Given the description of an element on the screen output the (x, y) to click on. 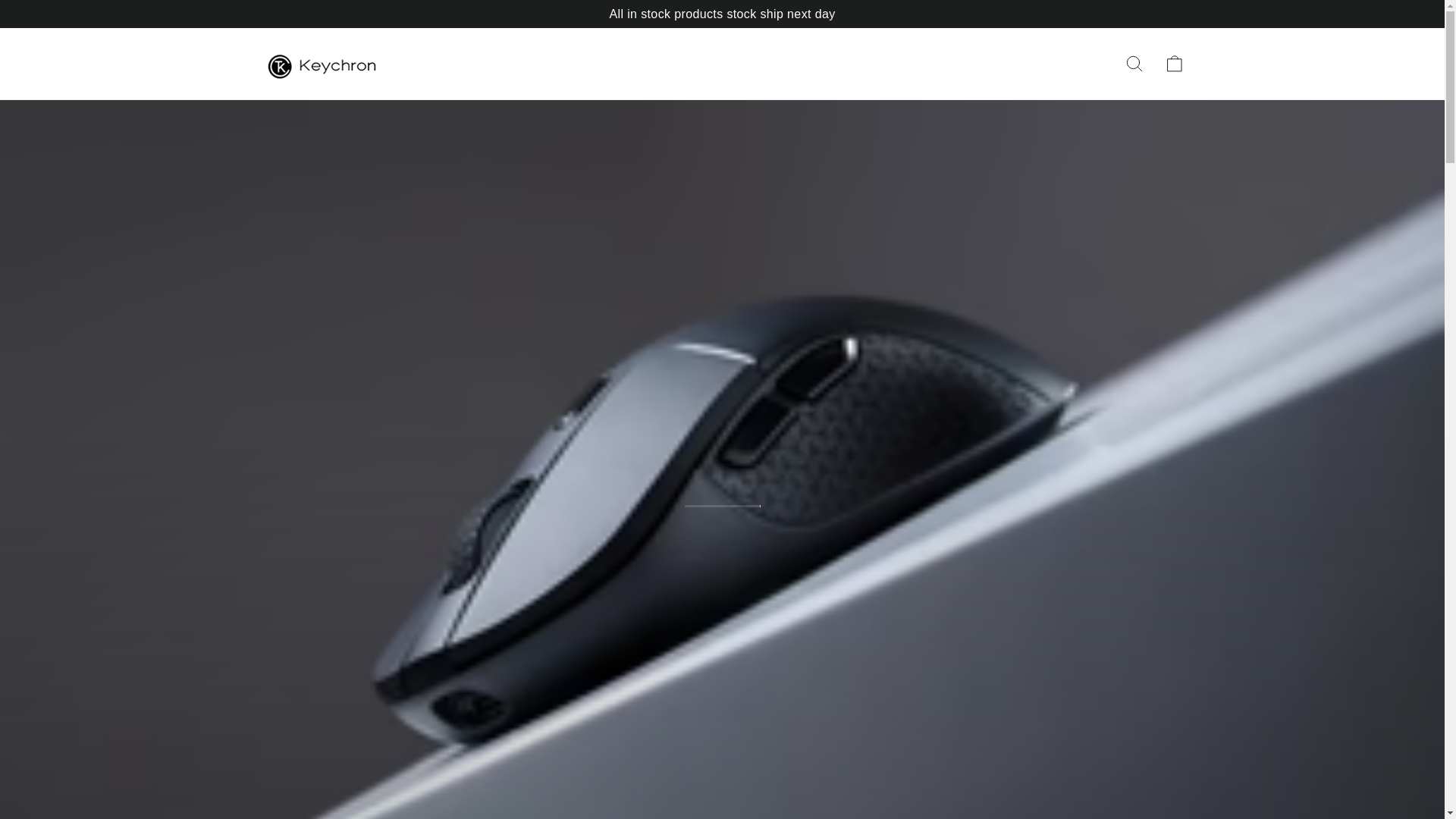
Search (1134, 63)
Cart (1173, 63)
